Given the description of an element on the screen output the (x, y) to click on. 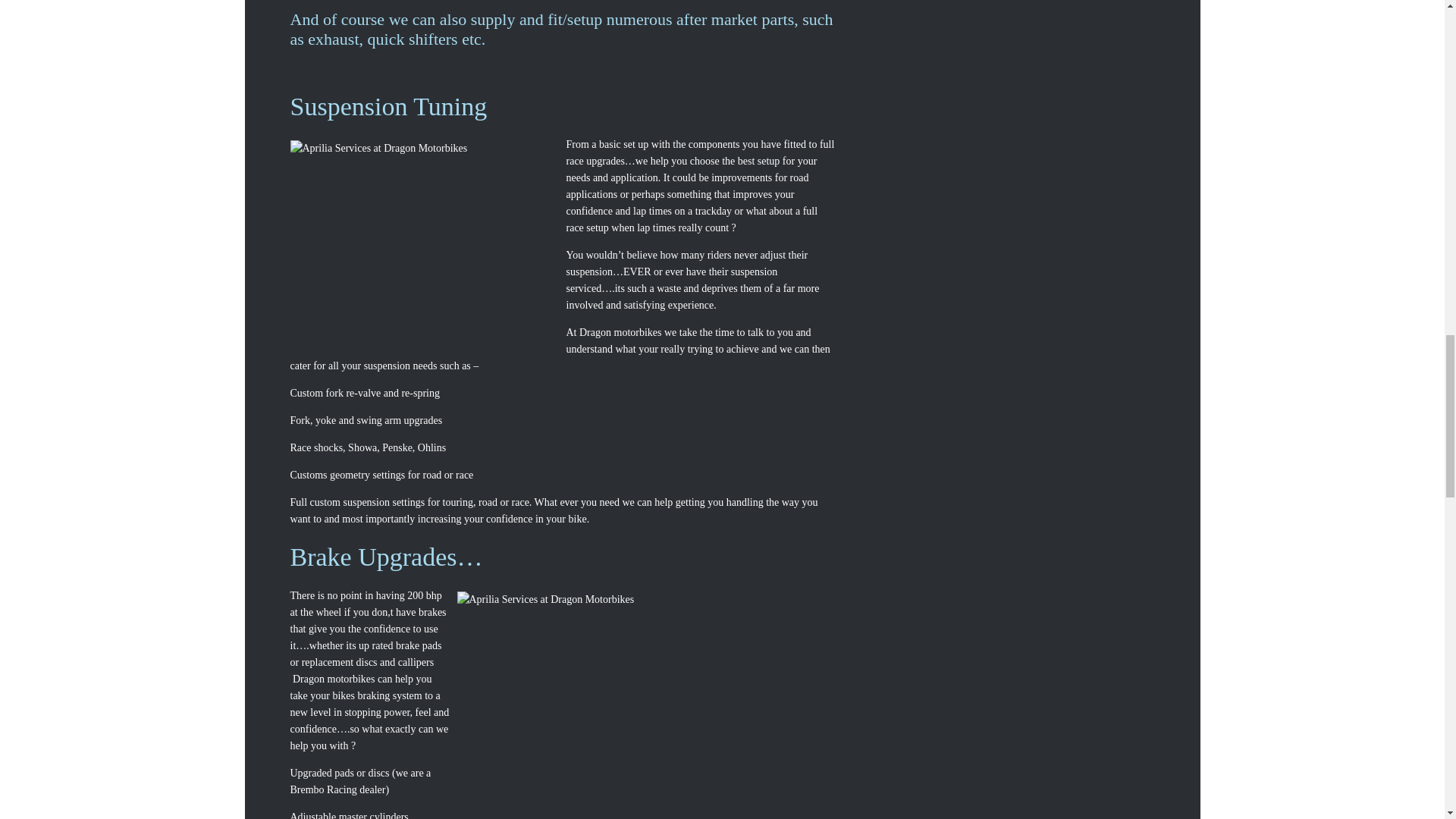
Aprilia Services  (646, 674)
